Given the description of an element on the screen output the (x, y) to click on. 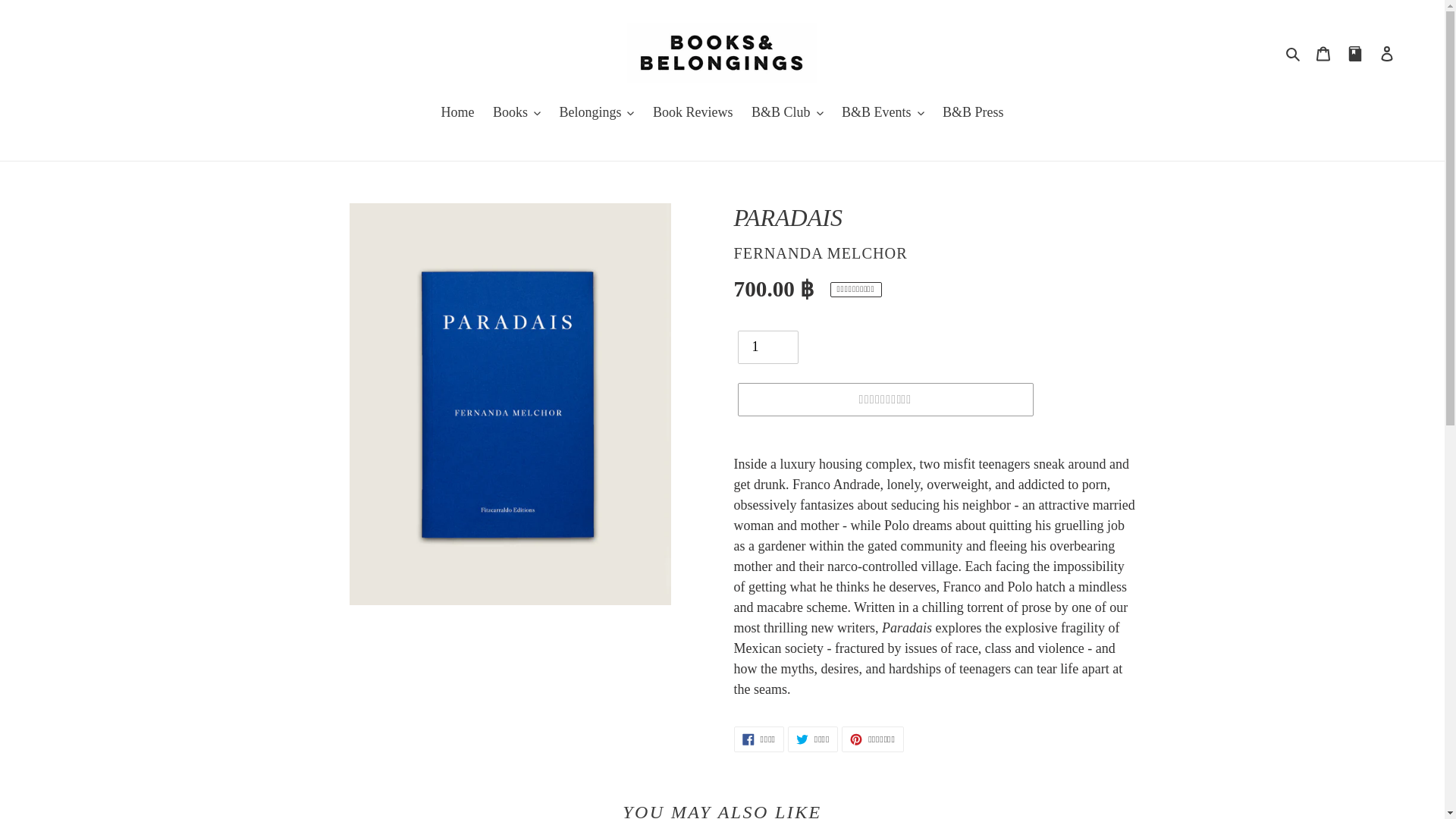
Fernanda Melchor (820, 252)
1 (766, 346)
